Given the description of an element on the screen output the (x, y) to click on. 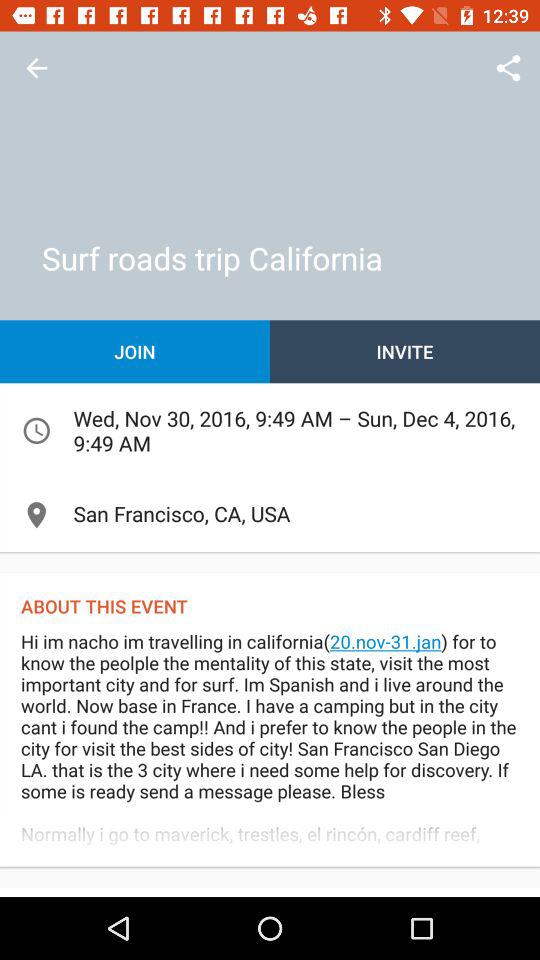
turn on the item next to invite icon (135, 351)
